Given the description of an element on the screen output the (x, y) to click on. 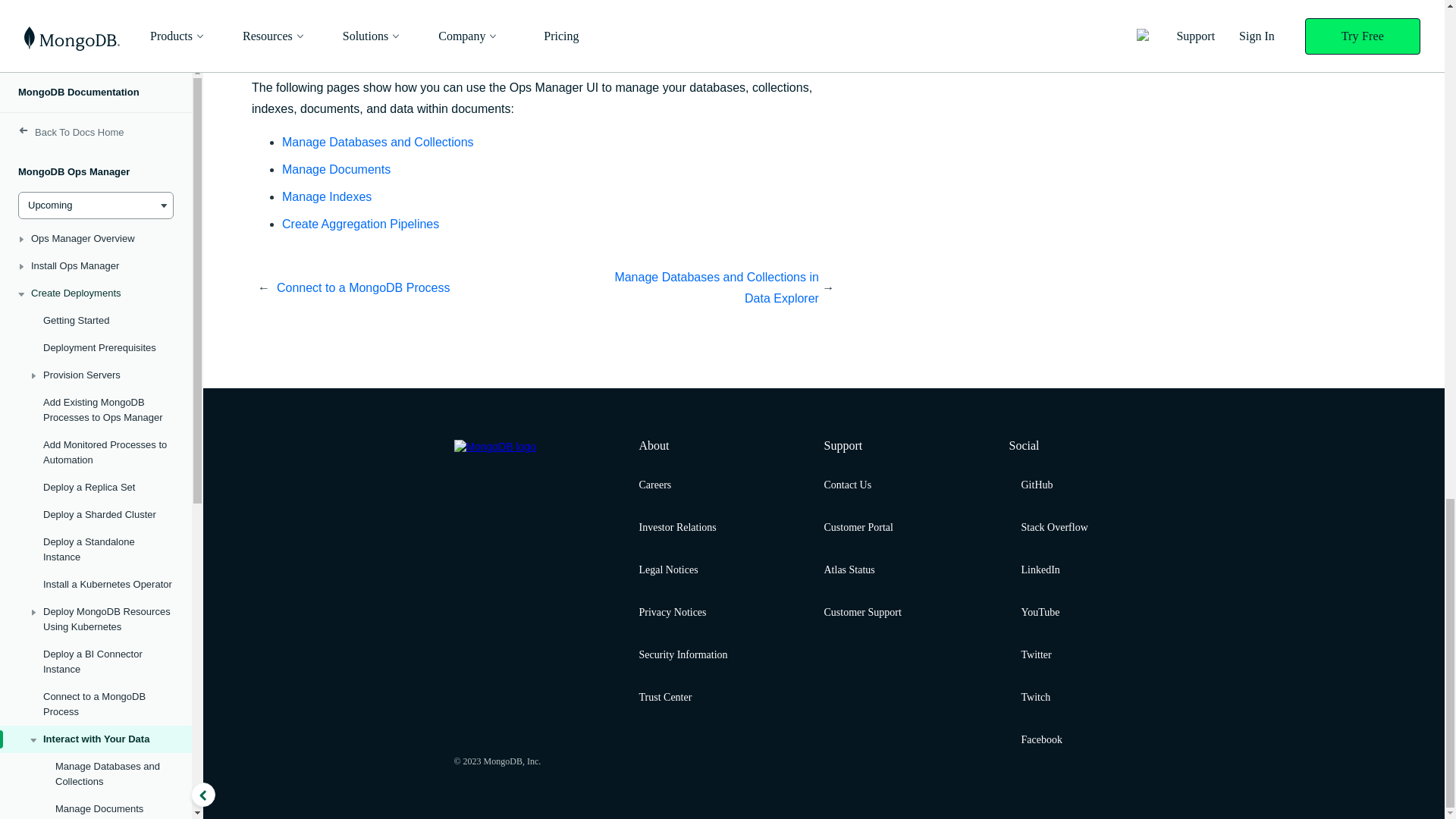
Next Section (682, 287)
Previous Section (411, 287)
